Given the description of an element on the screen output the (x, y) to click on. 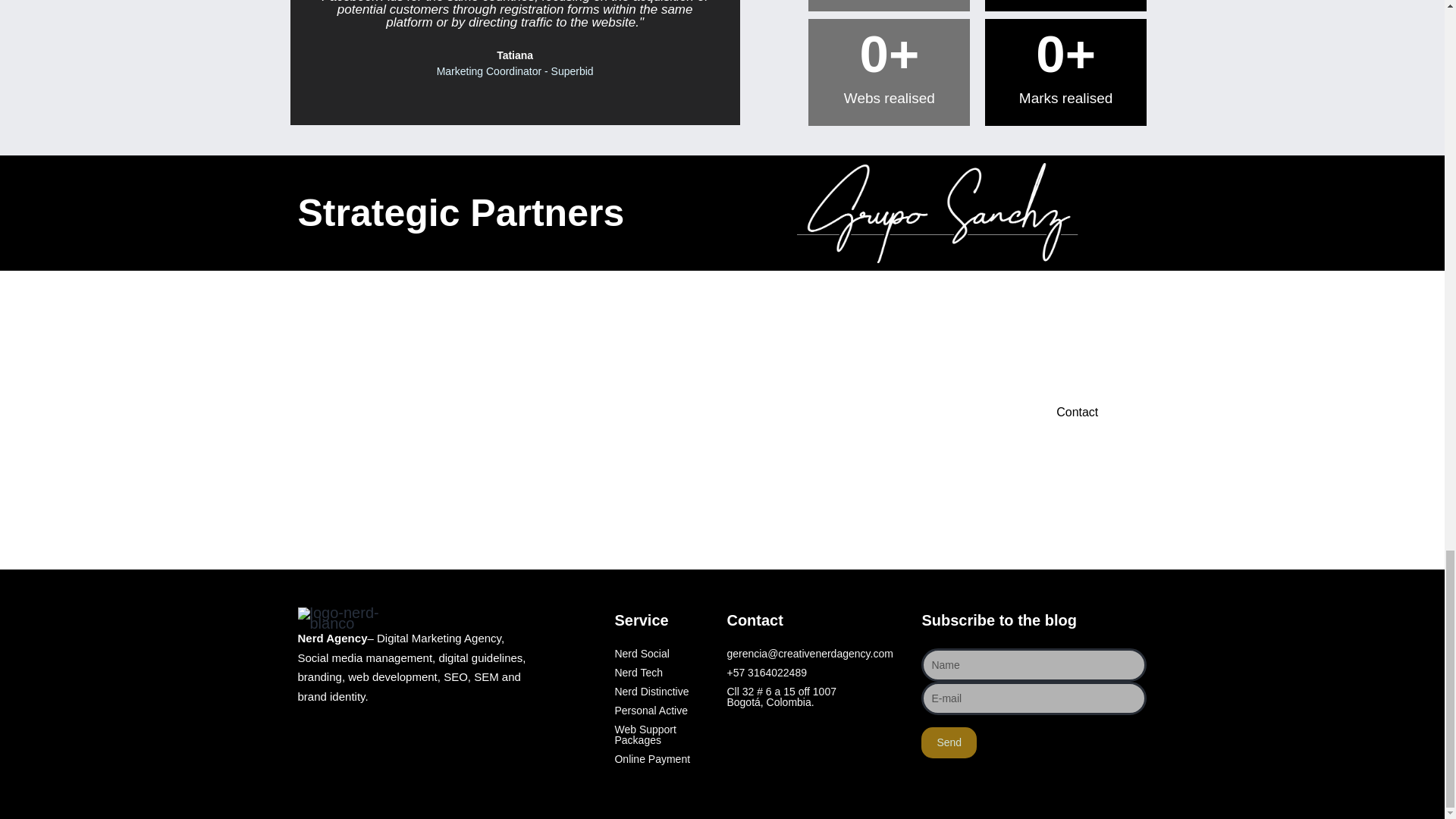
Personal Active (662, 710)
Nerd Social (662, 653)
Nerd Distinctive (662, 691)
Send (948, 742)
Nerd Tech (662, 672)
logo-nerd-blanco (356, 617)
Web Support Packages (662, 734)
Contact (1081, 411)
